Given the description of an element on the screen output the (x, y) to click on. 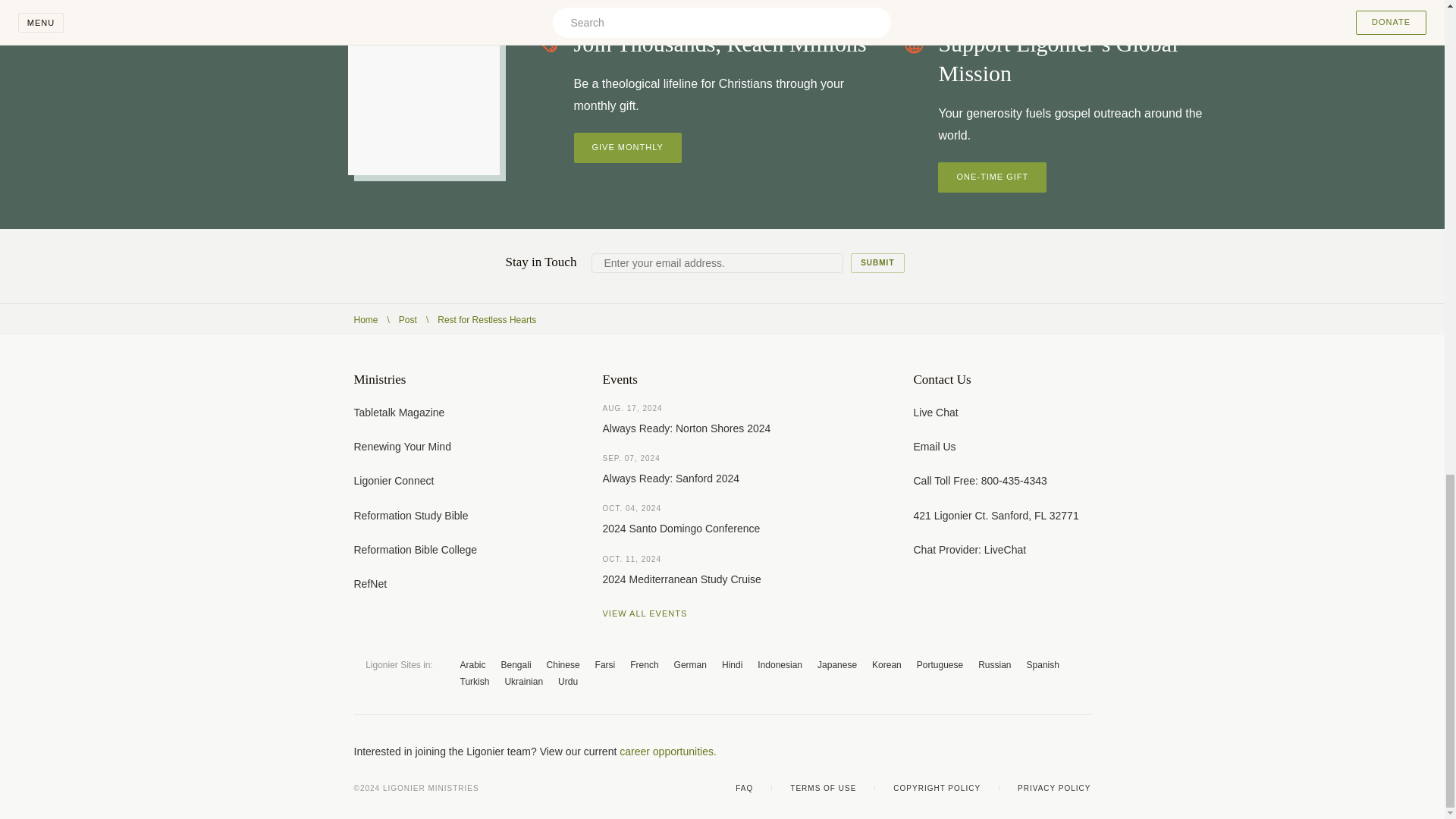
YouTube (1023, 751)
Linkedin (1083, 751)
X (993, 751)
Instagram (1053, 751)
Facebook (962, 751)
